Given the description of an element on the screen output the (x, y) to click on. 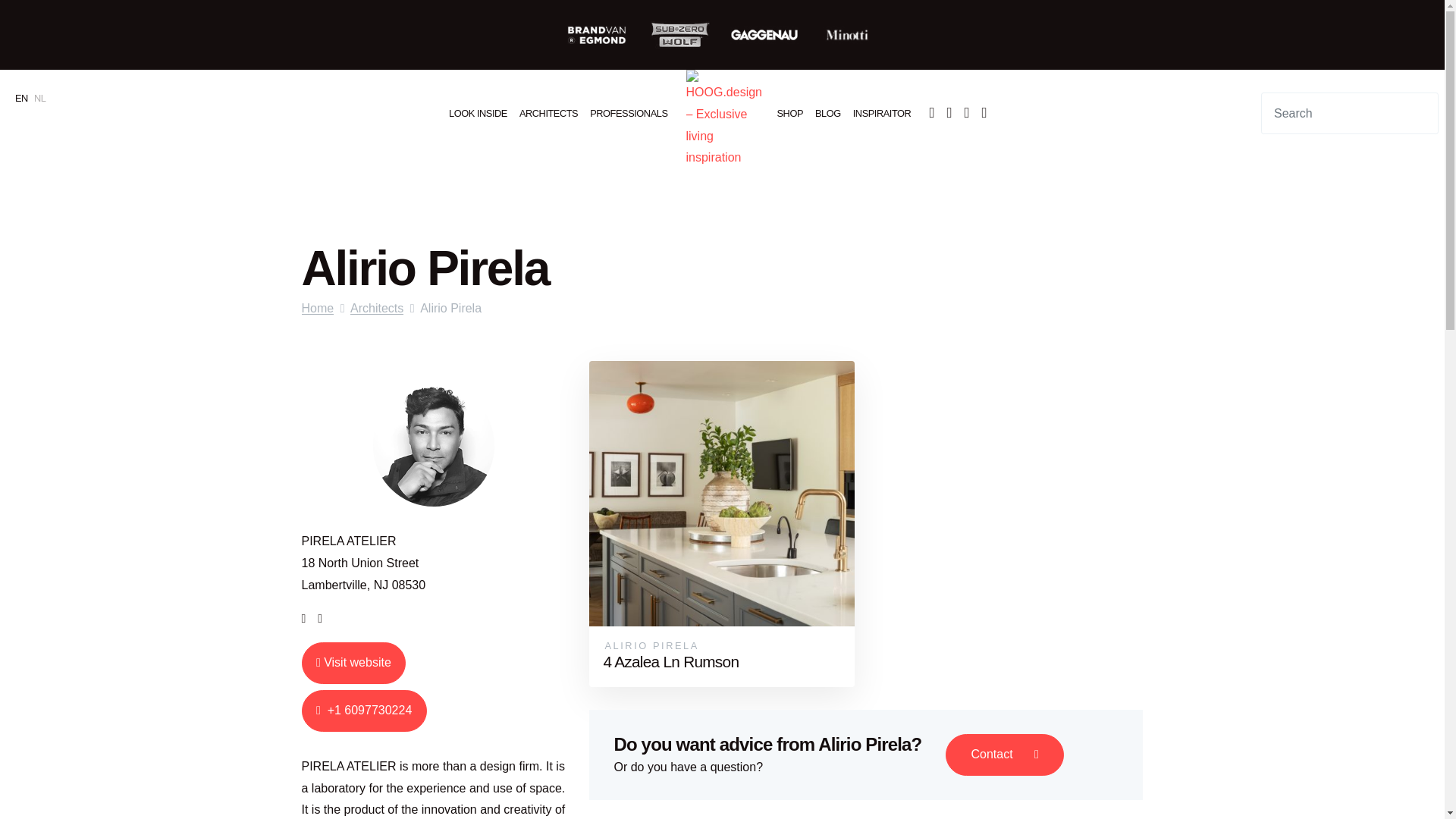
ARCHITECTS (548, 112)
PROFESSIONALS (627, 112)
Look inside (477, 112)
Shop (789, 112)
Blog (828, 112)
Professionals (627, 112)
Architects (548, 112)
LOOK INSIDE (477, 112)
Inspiraitor (882, 112)
